Given the description of an element on the screen output the (x, y) to click on. 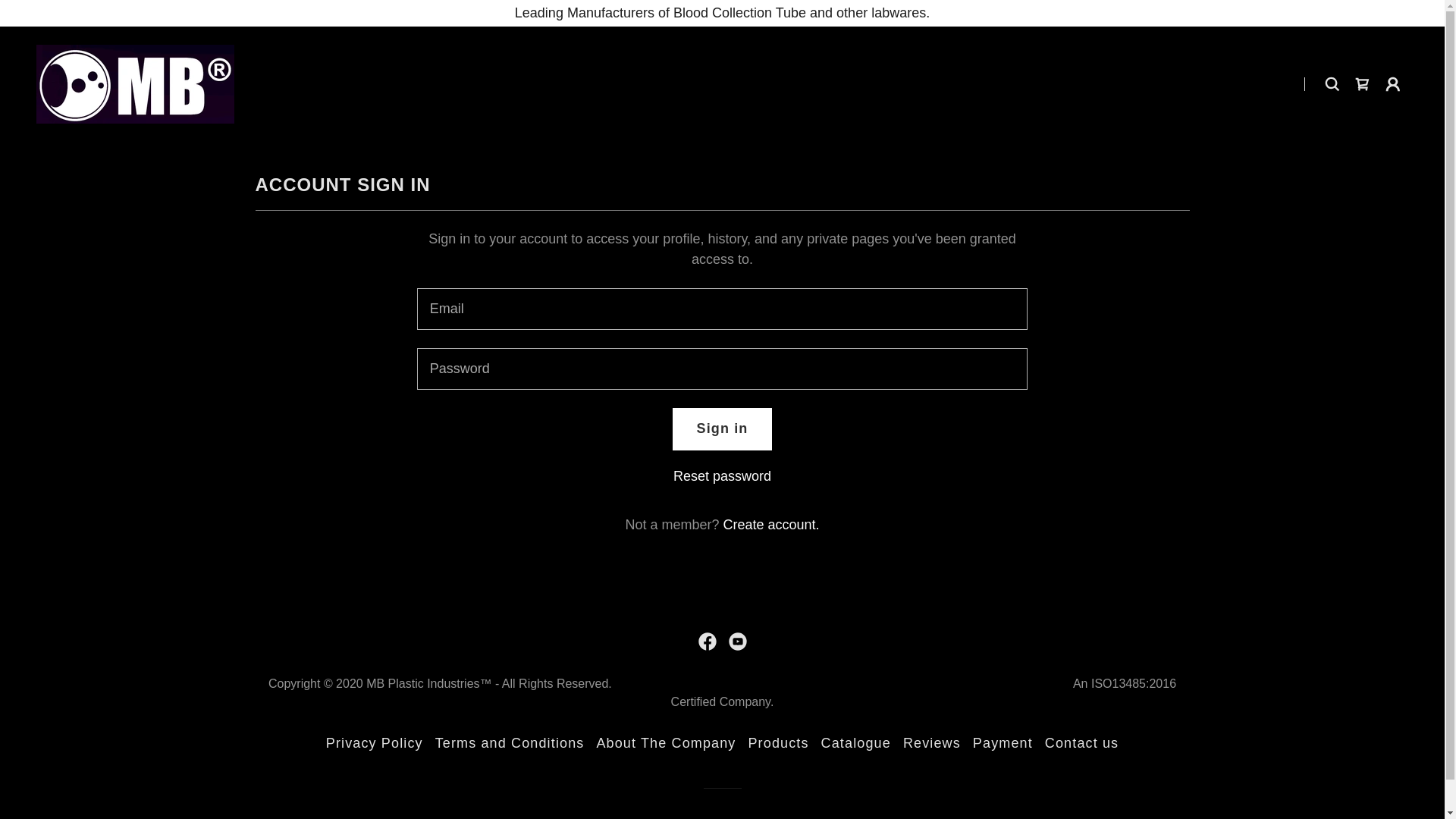
MB Plastic industries (135, 83)
